Given the description of an element on the screen output the (x, y) to click on. 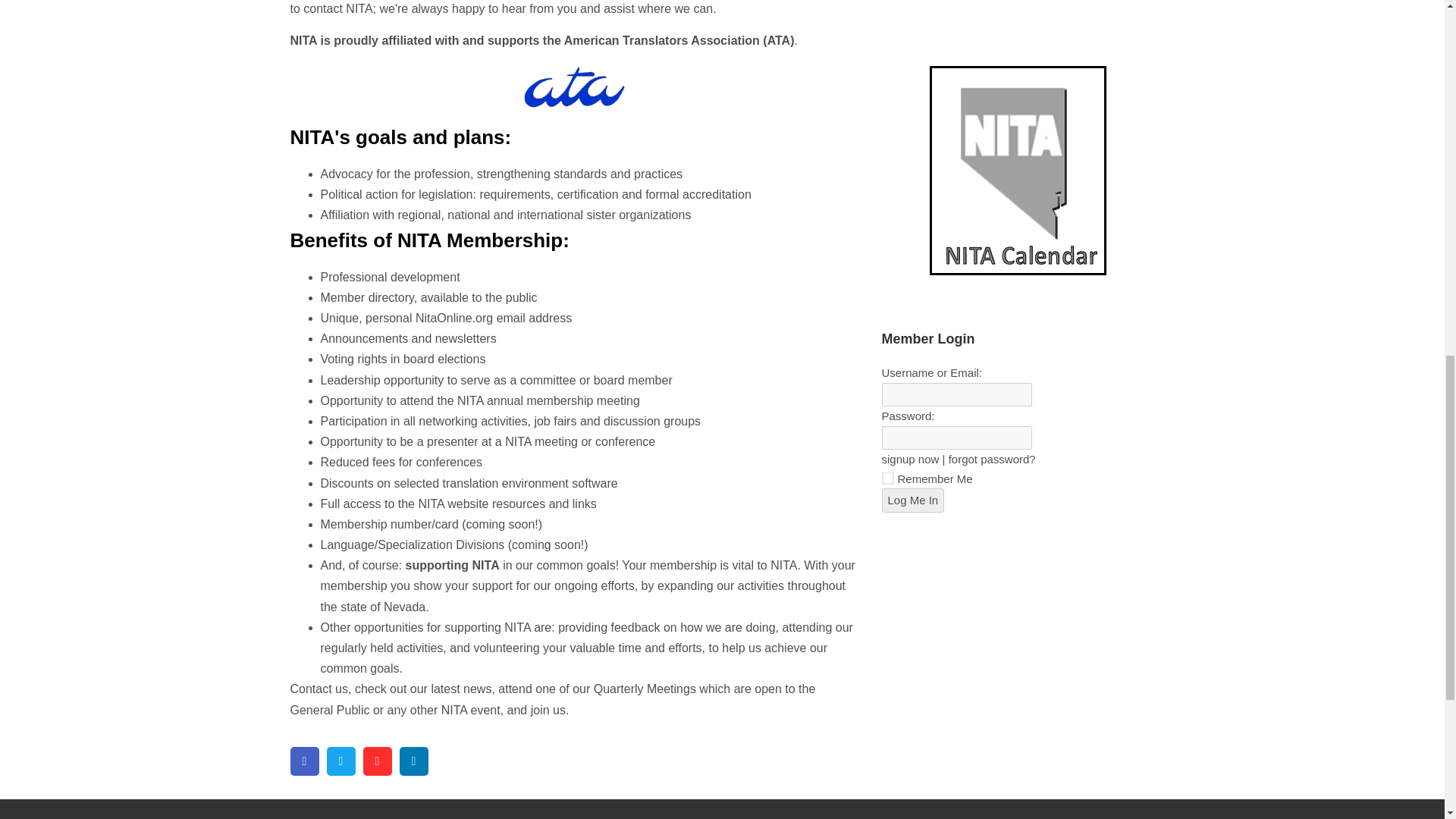
Contact us (318, 688)
Password (955, 437)
Log Me In (911, 500)
Log Me In (911, 500)
signup now (909, 459)
Contact NITA (318, 688)
Username (955, 395)
the American Translators Association - ATA (662, 40)
forgot password? (992, 459)
join us (548, 709)
American Translators Association (662, 40)
contact NITA (337, 8)
providing feedback (608, 626)
forever (886, 478)
The Benefits of Being a Member of NITA (548, 709)
